Given the description of an element on the screen output the (x, y) to click on. 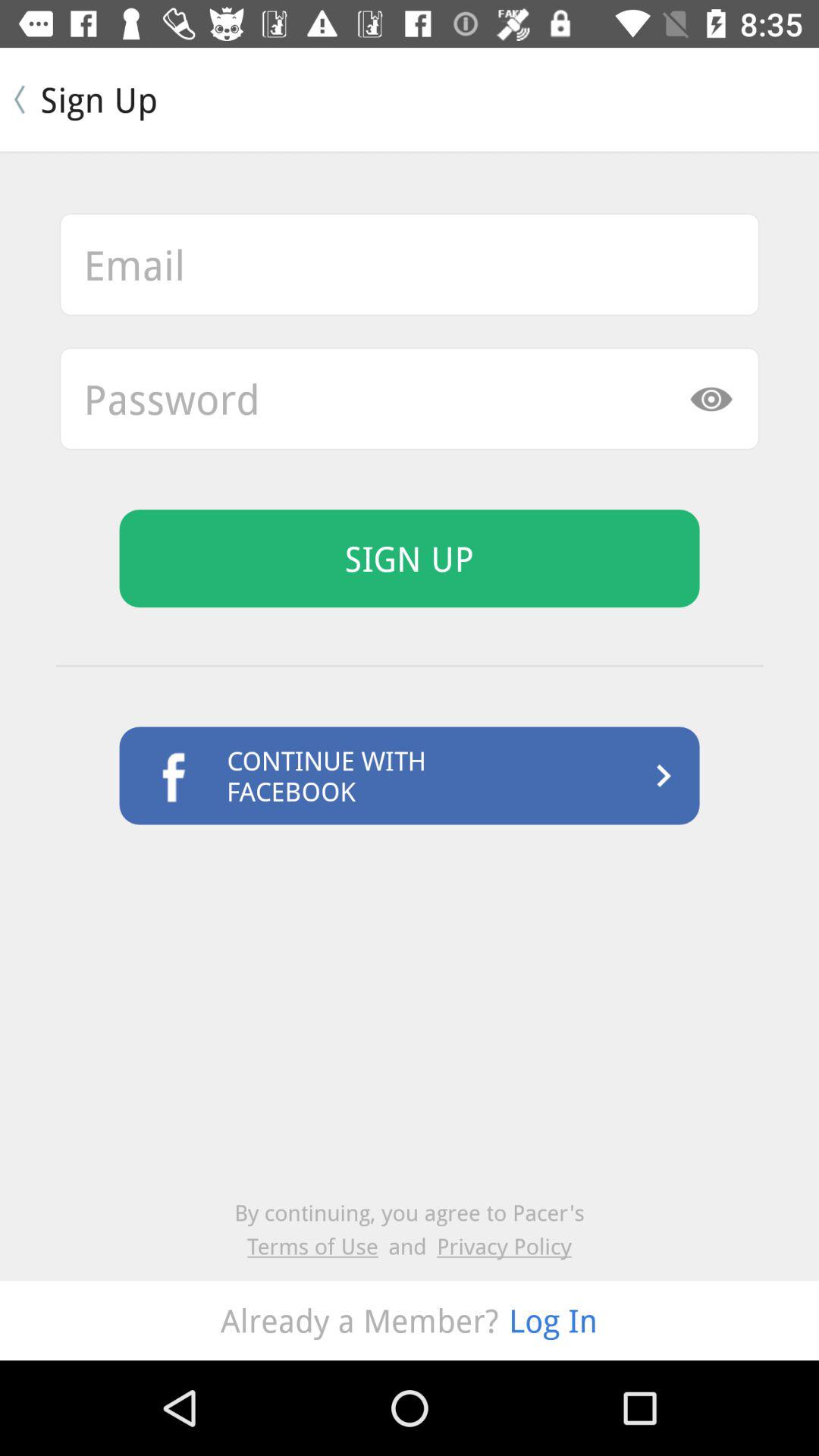
password field (409, 398)
